Given the description of an element on the screen output the (x, y) to click on. 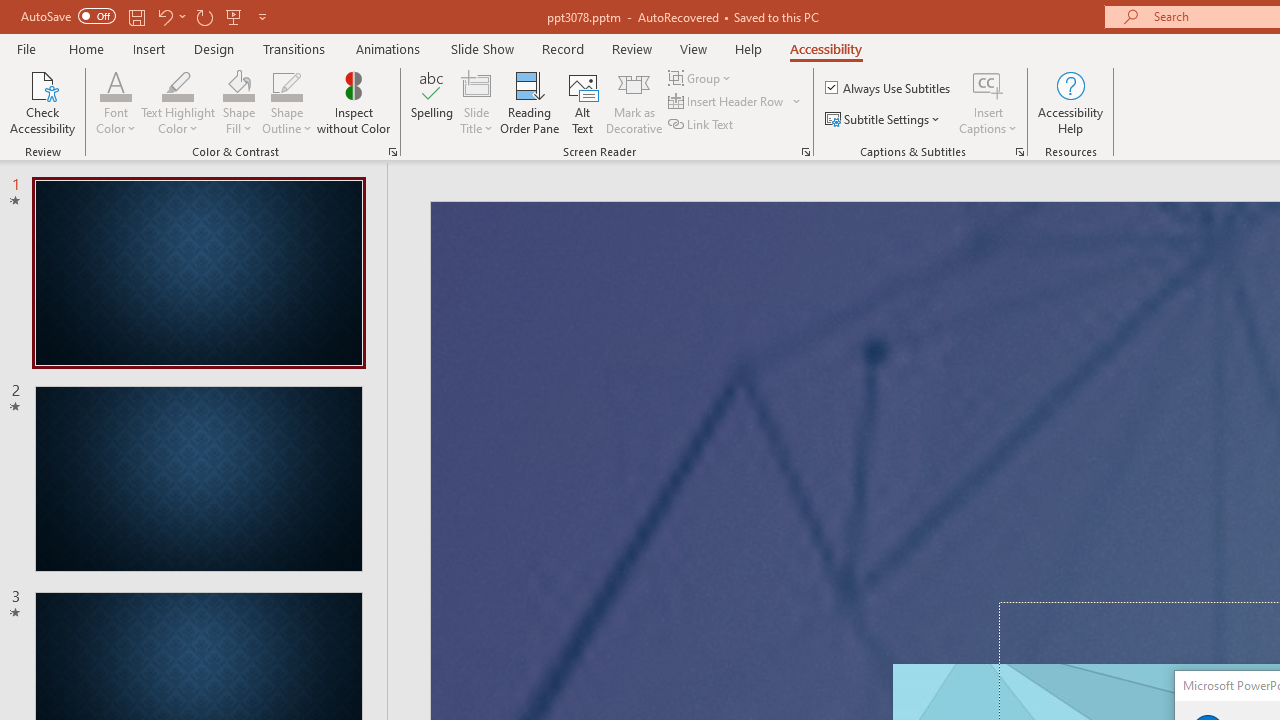
Group (701, 78)
Font Color (116, 102)
Link Text (702, 124)
Insert Header Row (727, 101)
Text Highlight Color (178, 84)
Mark as Decorative (634, 102)
